Given the description of an element on the screen output the (x, y) to click on. 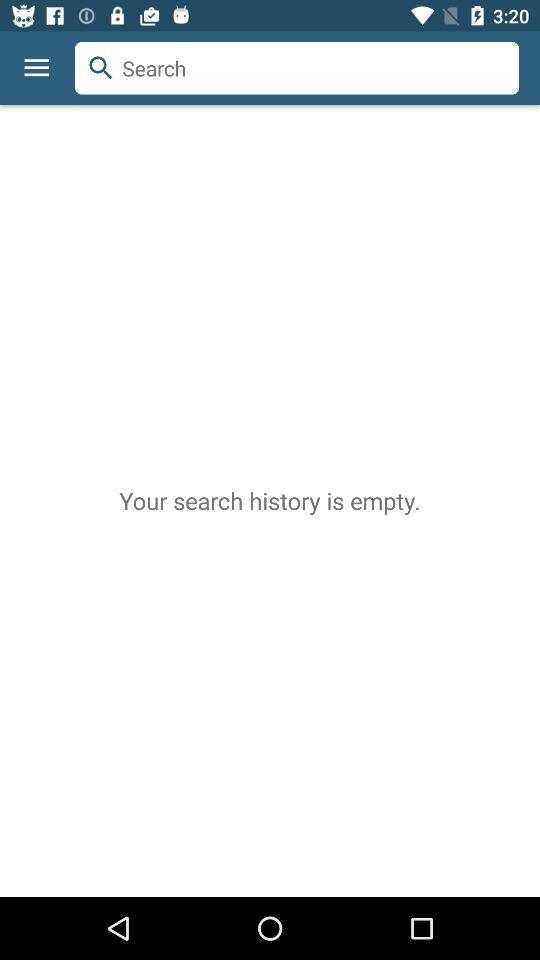
search bar (297, 68)
